Given the description of an element on the screen output the (x, y) to click on. 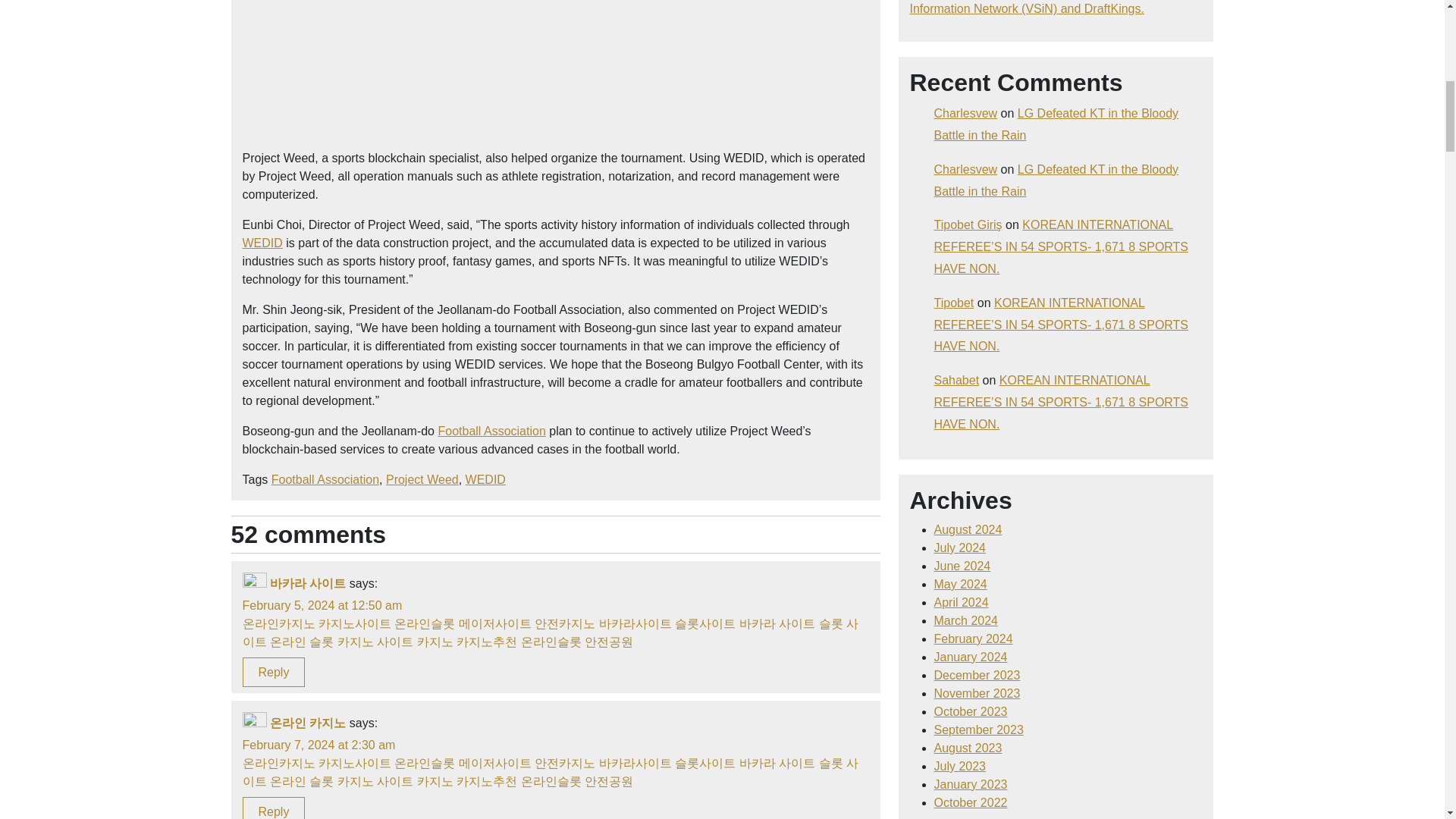
February 7, 2024 at 2:30 am (319, 744)
Project Weed (421, 479)
WEDID (485, 479)
Football Association (491, 431)
Football Association (324, 479)
WEDID (262, 242)
February 5, 2024 at 12:50 am (323, 604)
Reply (274, 672)
